Given the description of an element on the screen output the (x, y) to click on. 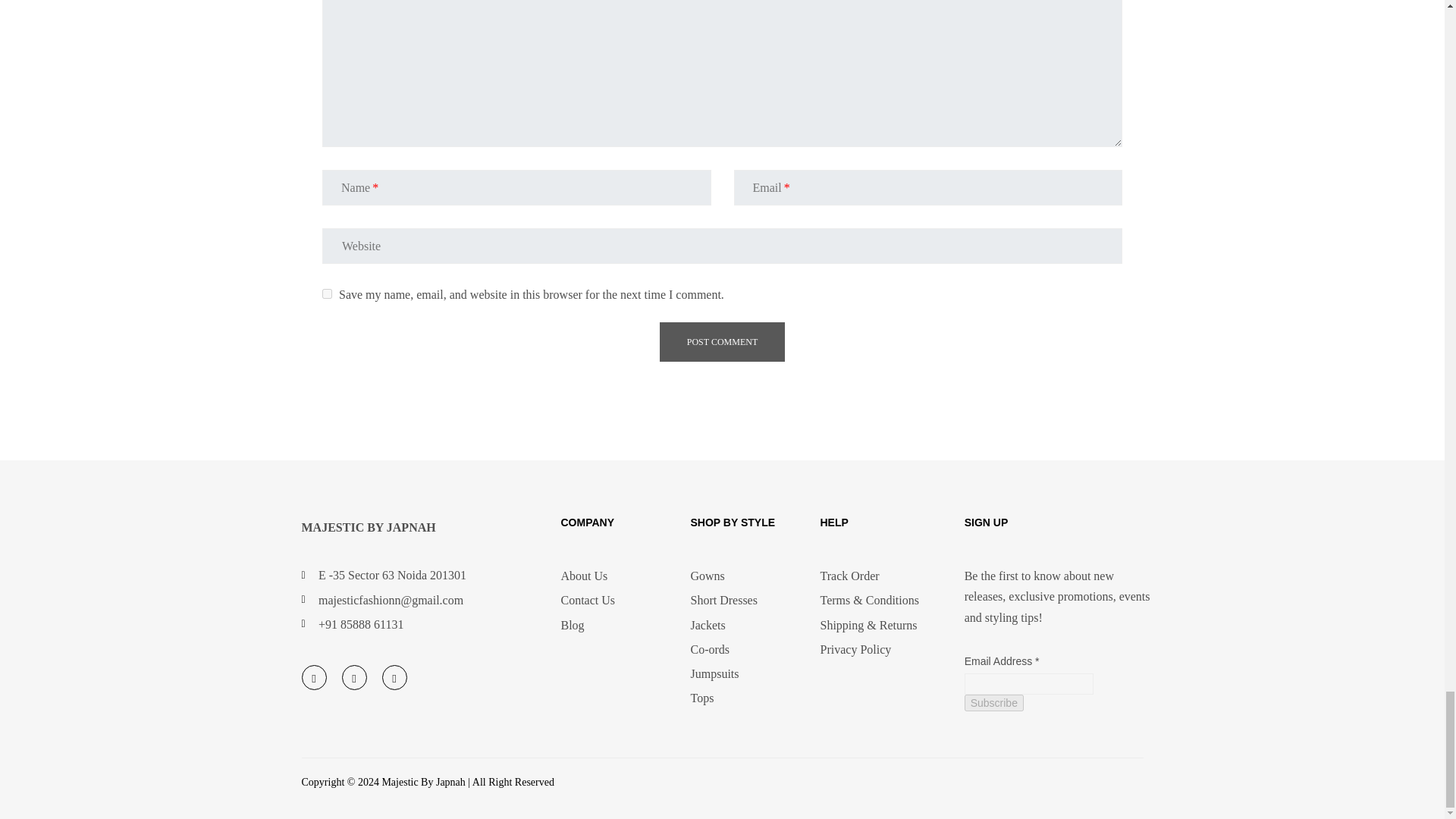
Post Comment (721, 341)
yes (326, 293)
Subscribe (993, 702)
